Given the description of an element on the screen output the (x, y) to click on. 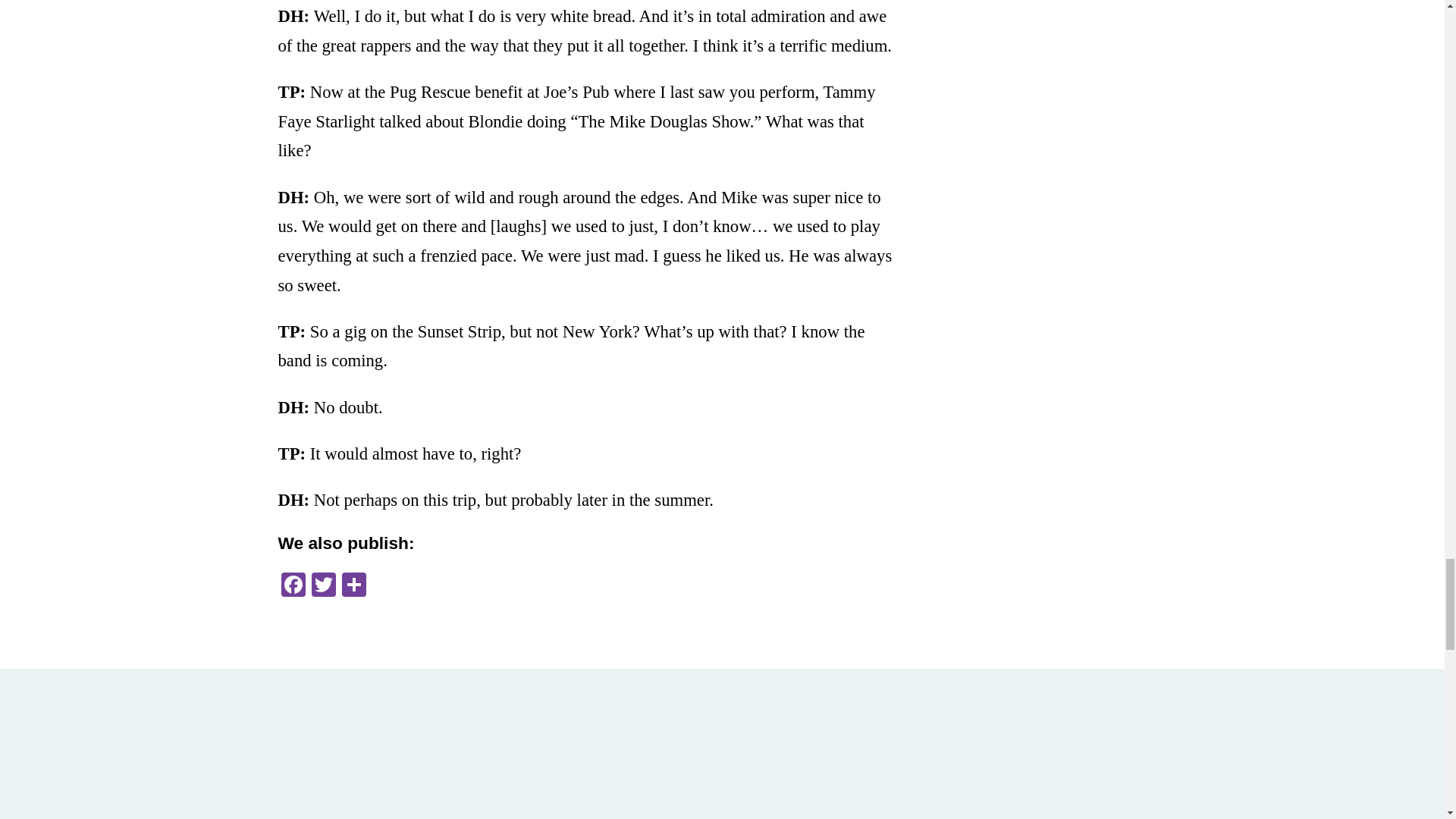
Twitter (322, 586)
Facebook (292, 586)
